Given the description of an element on the screen output the (x, y) to click on. 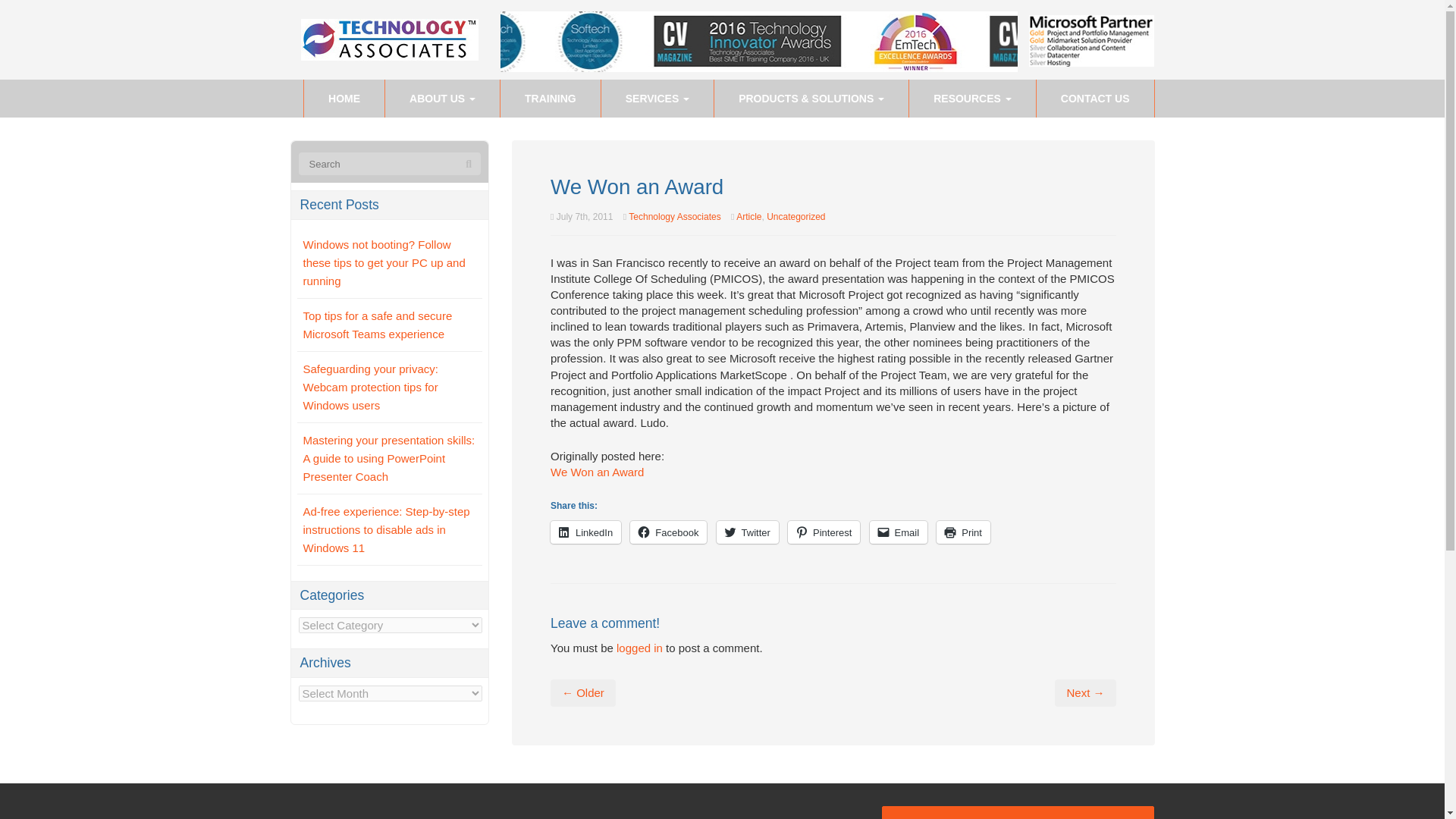
RESOURCES (971, 98)
LinkedIn (585, 531)
Click to print (963, 531)
Click to share on Facebook (668, 531)
Technology Associates (674, 216)
HOME (344, 98)
Facebook (668, 531)
Click to share on LinkedIn (585, 531)
Article (748, 216)
We Won an Award (596, 472)
